Given the description of an element on the screen output the (x, y) to click on. 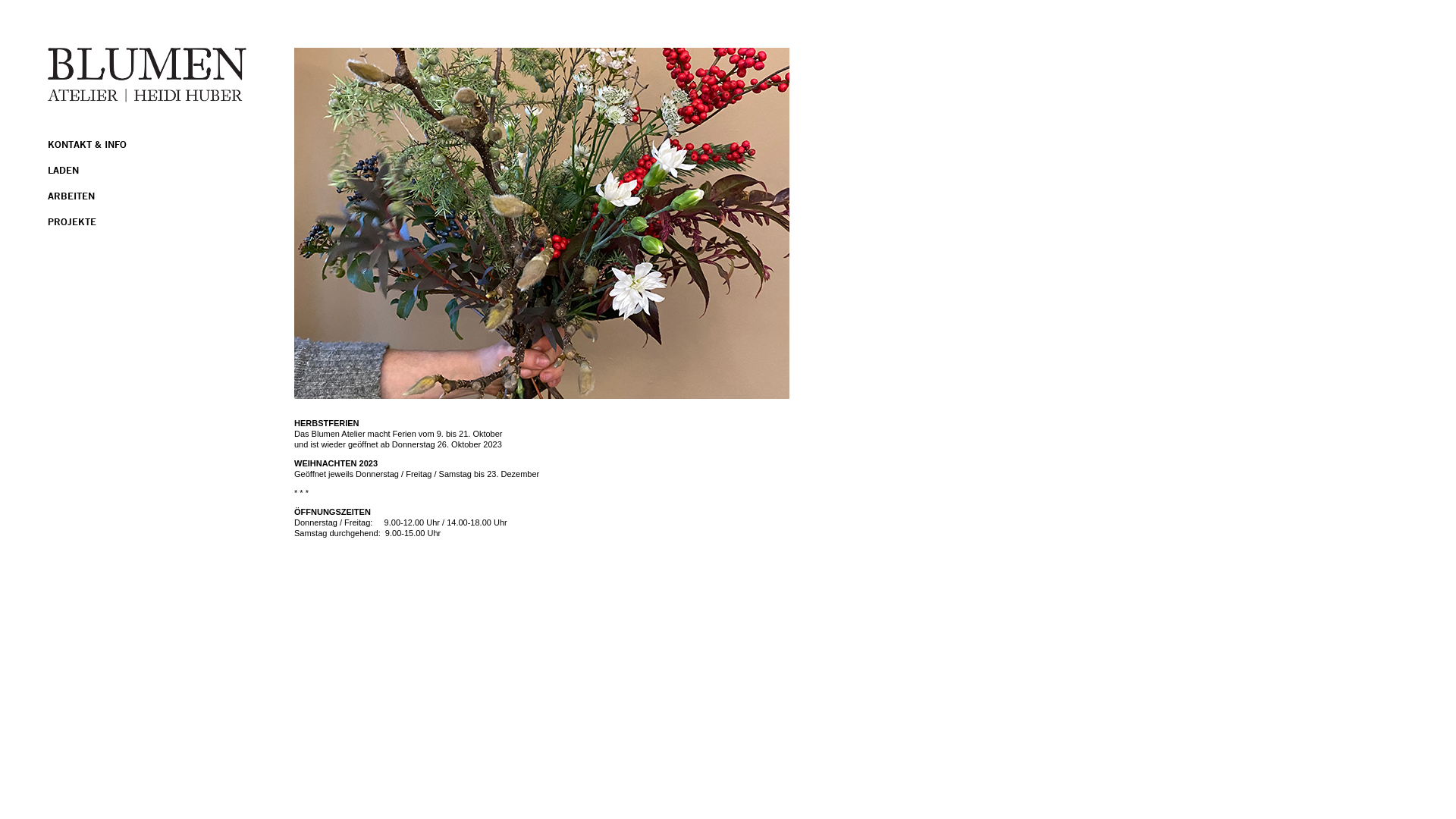
PROJEKTE Element type: text (71, 221)
  Element type: text (1, 4)
ARBEITEN Element type: text (70, 195)
LADEN Element type: text (62, 169)
KONTAKT & INFO Element type: text (86, 144)
